Given the description of an element on the screen output the (x, y) to click on. 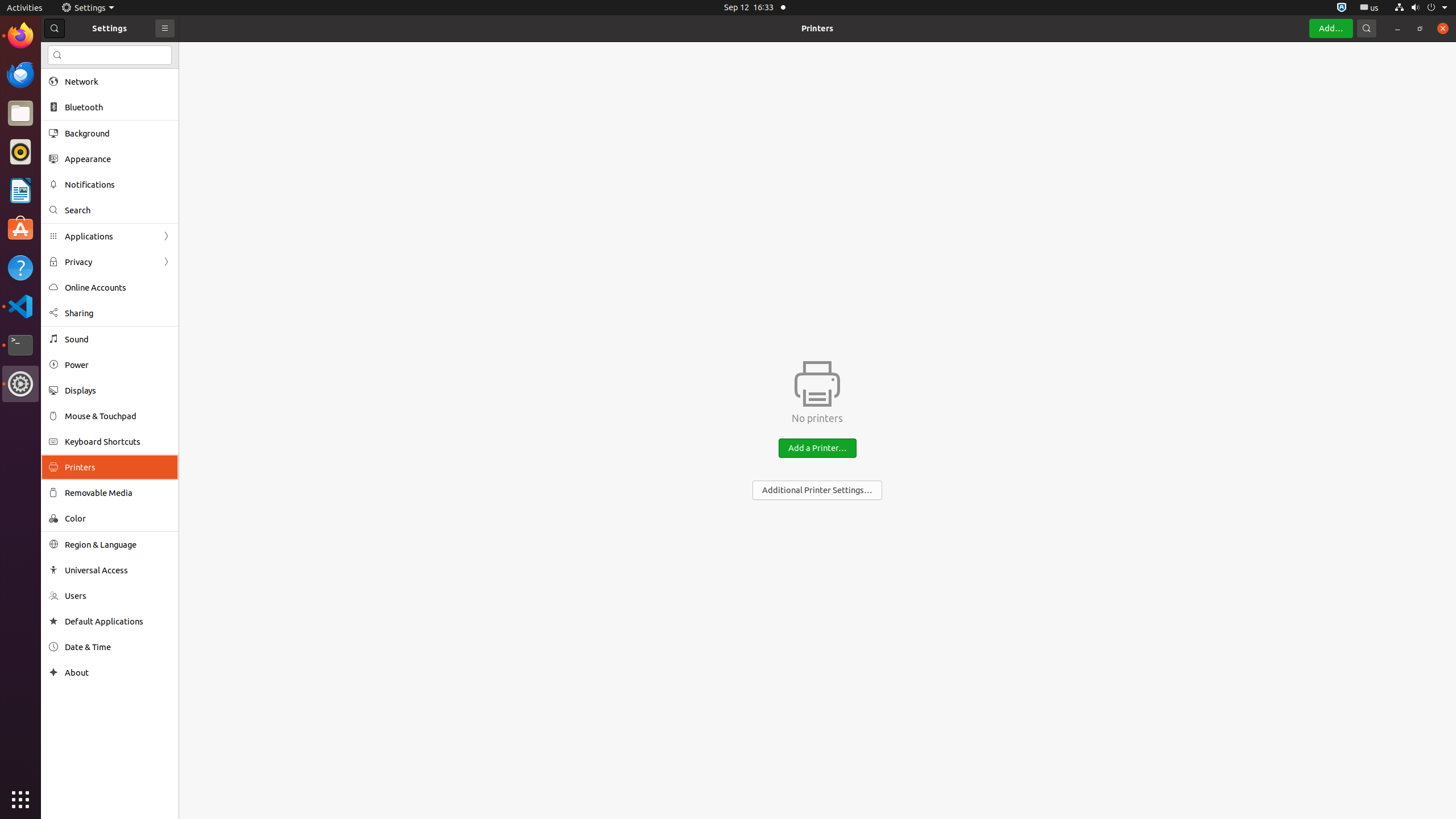
Notifications Element type: label (117, 184)
edit-find-symbolic Element type: icon (56, 54)
